Given the description of an element on the screen output the (x, y) to click on. 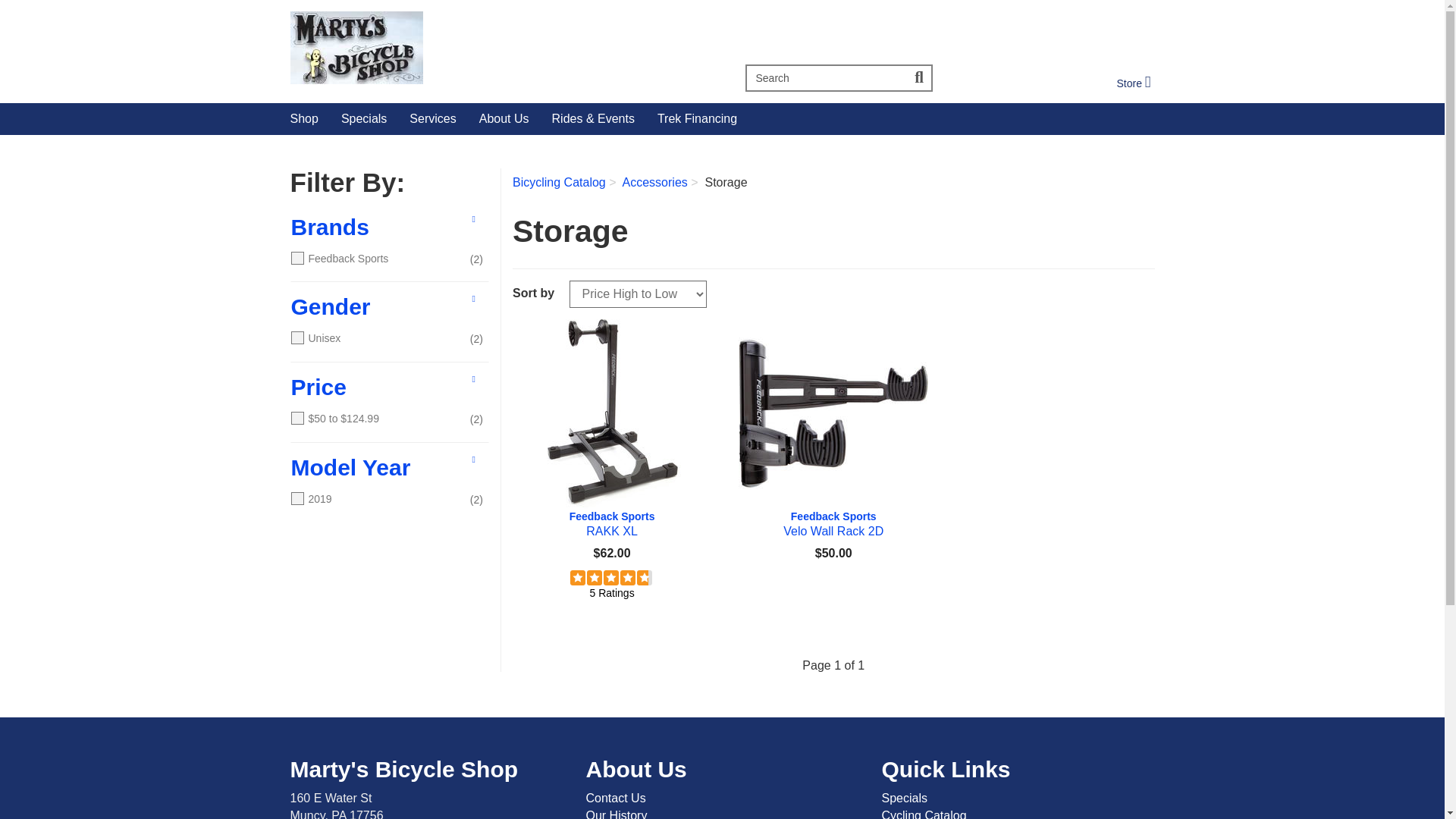
Search (1133, 82)
Feedback Sports RAKK XL (920, 77)
Shop (611, 413)
Store (304, 119)
Feedback Sports Velo Wall Rack 2D (1133, 82)
Search (833, 523)
Feedback Sports RAKK XL (825, 77)
Marty's Bicycle Shop Home Page (611, 523)
Feedback Sports Velo Wall Rack 2D (499, 47)
